Given the description of an element on the screen output the (x, y) to click on. 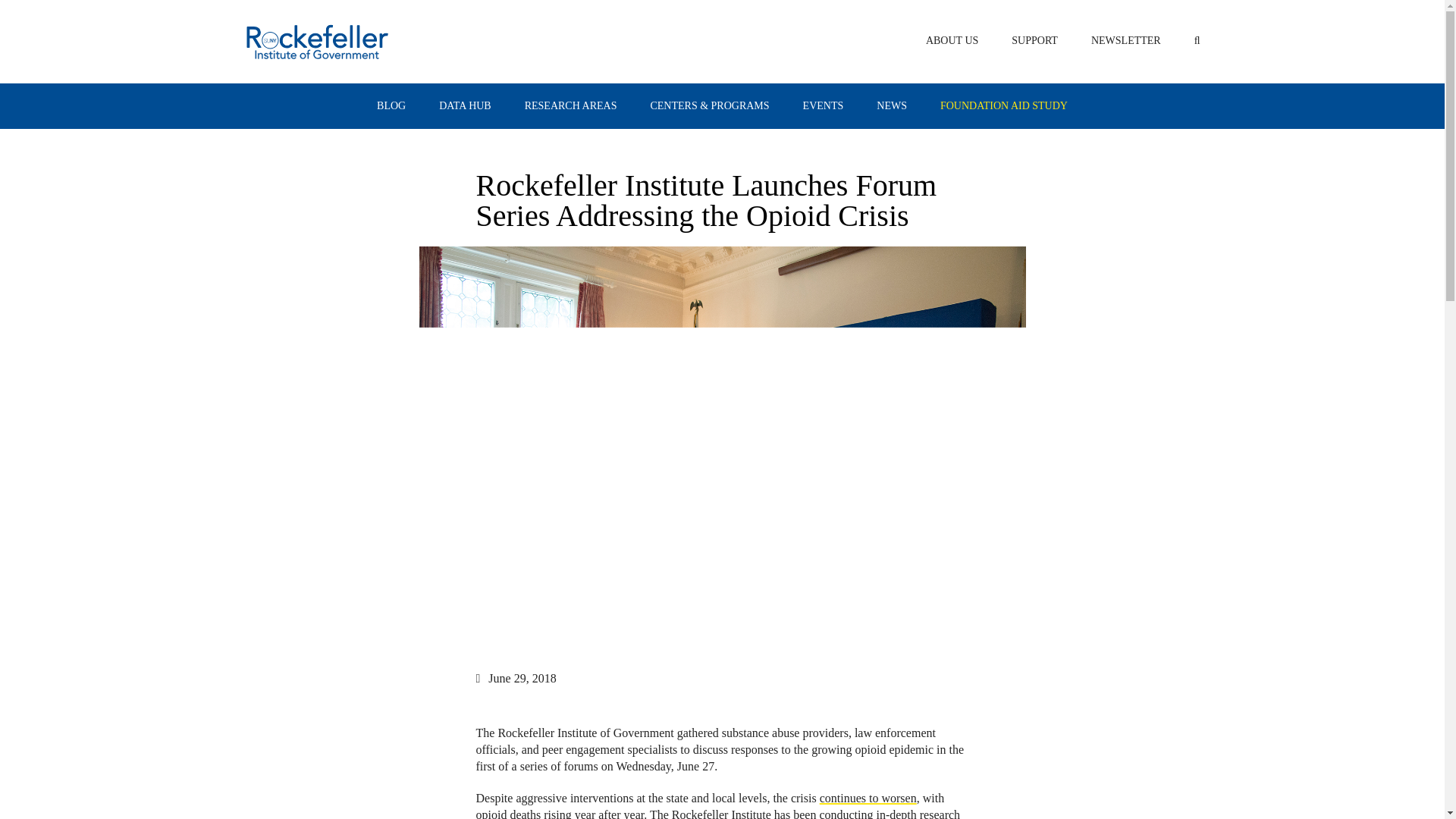
EVENTS (823, 105)
ABOUT US (952, 40)
DATA HUB (465, 105)
NEWSLETTER (1125, 40)
RESEARCH AREAS (570, 105)
SUPPORT (1034, 40)
